Given the description of an element on the screen output the (x, y) to click on. 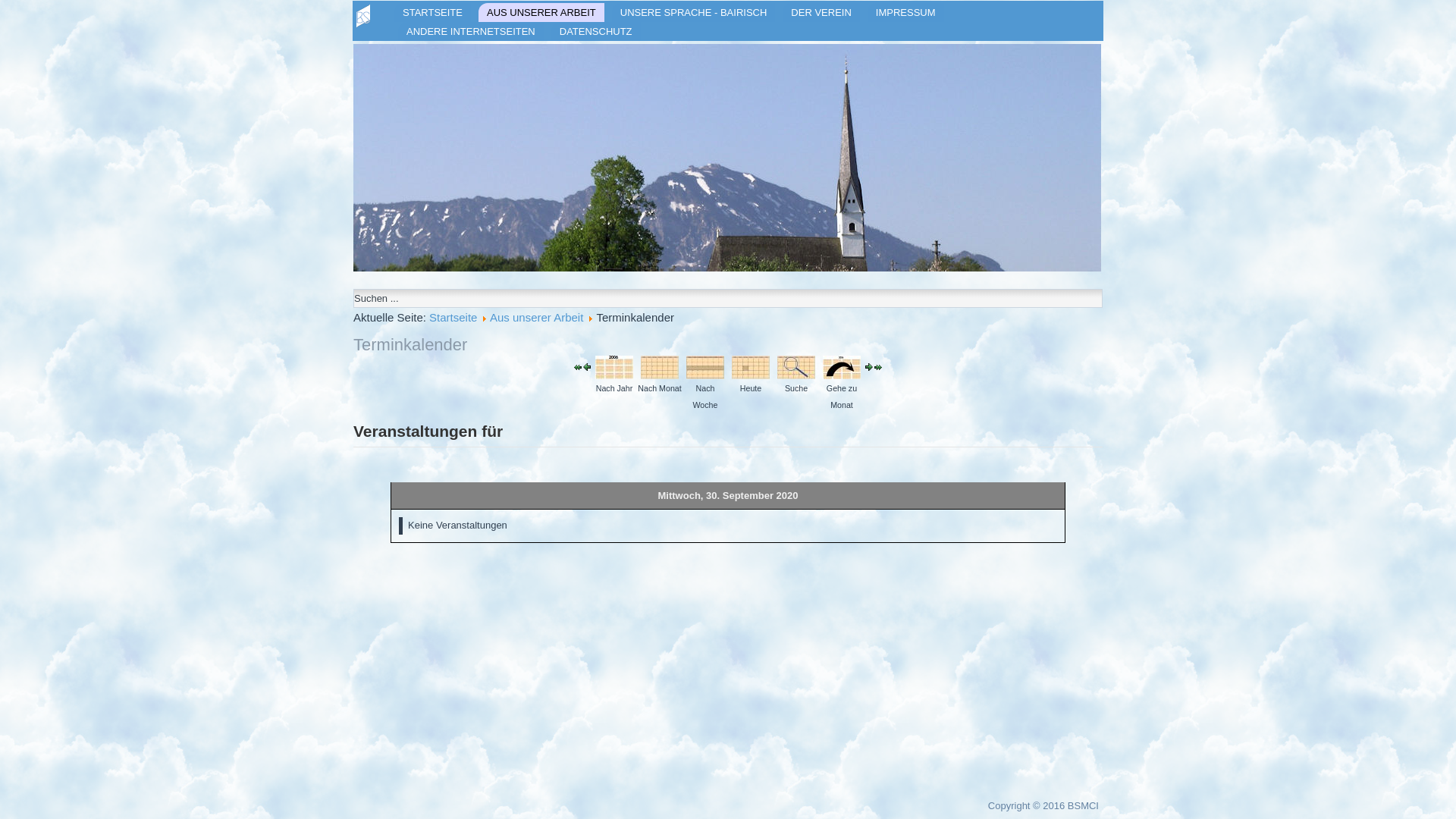
DER VEREIN Element type: text (820, 12)
Startseite Element type: text (452, 316)
ANDERE INTERNETSEITEN Element type: text (470, 30)
DATENSCHUTZ Element type: text (595, 30)
AUS UNSERER ARBEIT Element type: text (541, 12)
UNSERE SPRACHE - BAIRISCH Element type: text (693, 12)
Heute Element type: hover (750, 366)
Suche Element type: hover (796, 366)
Vorheriger Monat Element type: hover (577, 366)
Nach Monat Element type: hover (659, 366)
Gehe zu Monat Element type: hover (841, 366)
Nach Woche Element type: hover (705, 366)
Aus unserer Arbeit Element type: text (536, 316)
Nach Jahr Element type: hover (614, 366)
IMPRESSUM Element type: text (905, 12)
Vorheriger Tag Element type: hover (586, 366)
STARTSEITE Element type: text (432, 12)
